Given the description of an element on the screen output the (x, y) to click on. 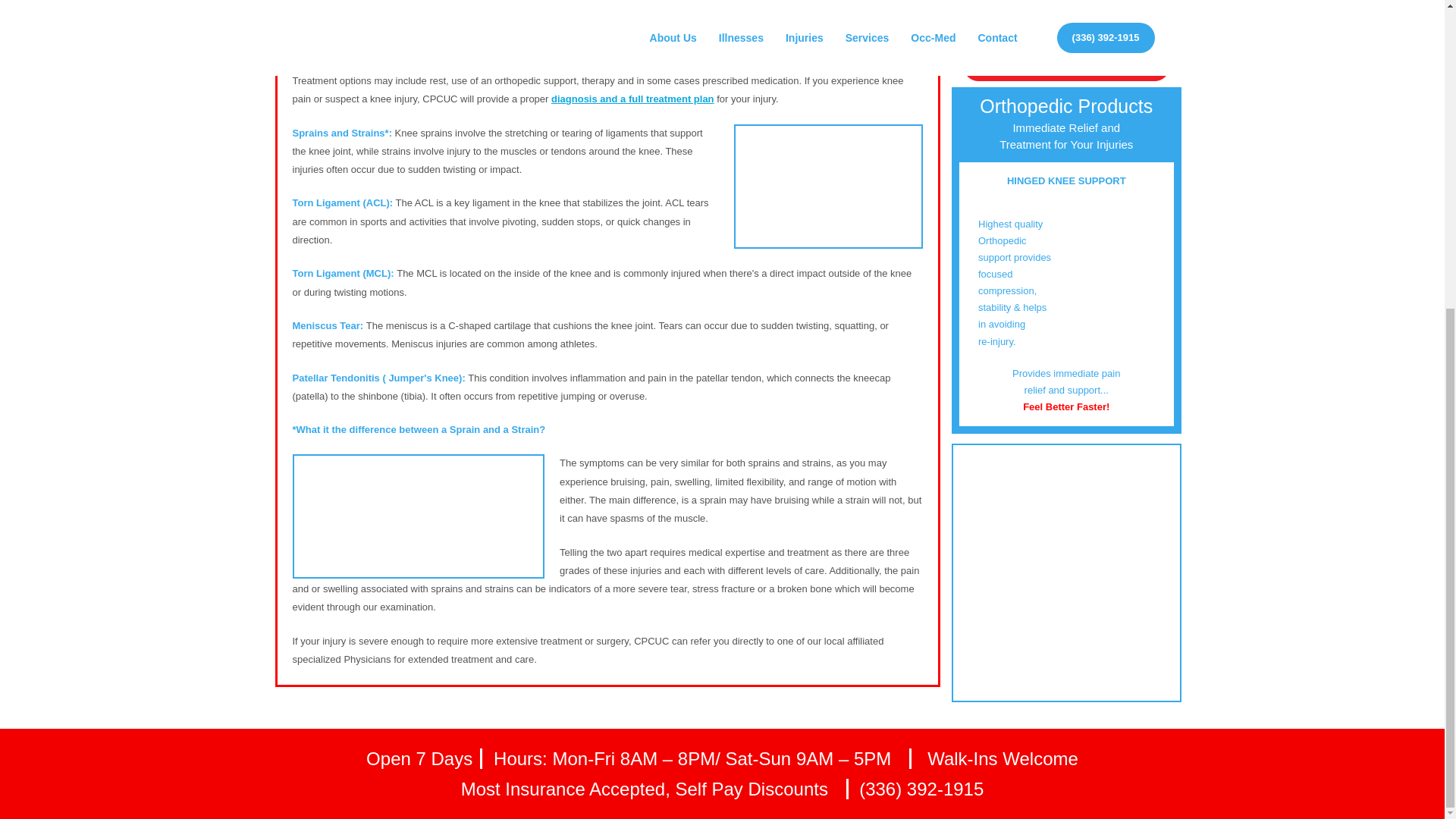
medical-logo-mobile-resize (1066, 24)
Image (828, 186)
Image (418, 516)
Click me (1066, 65)
